Given the description of an element on the screen output the (x, y) to click on. 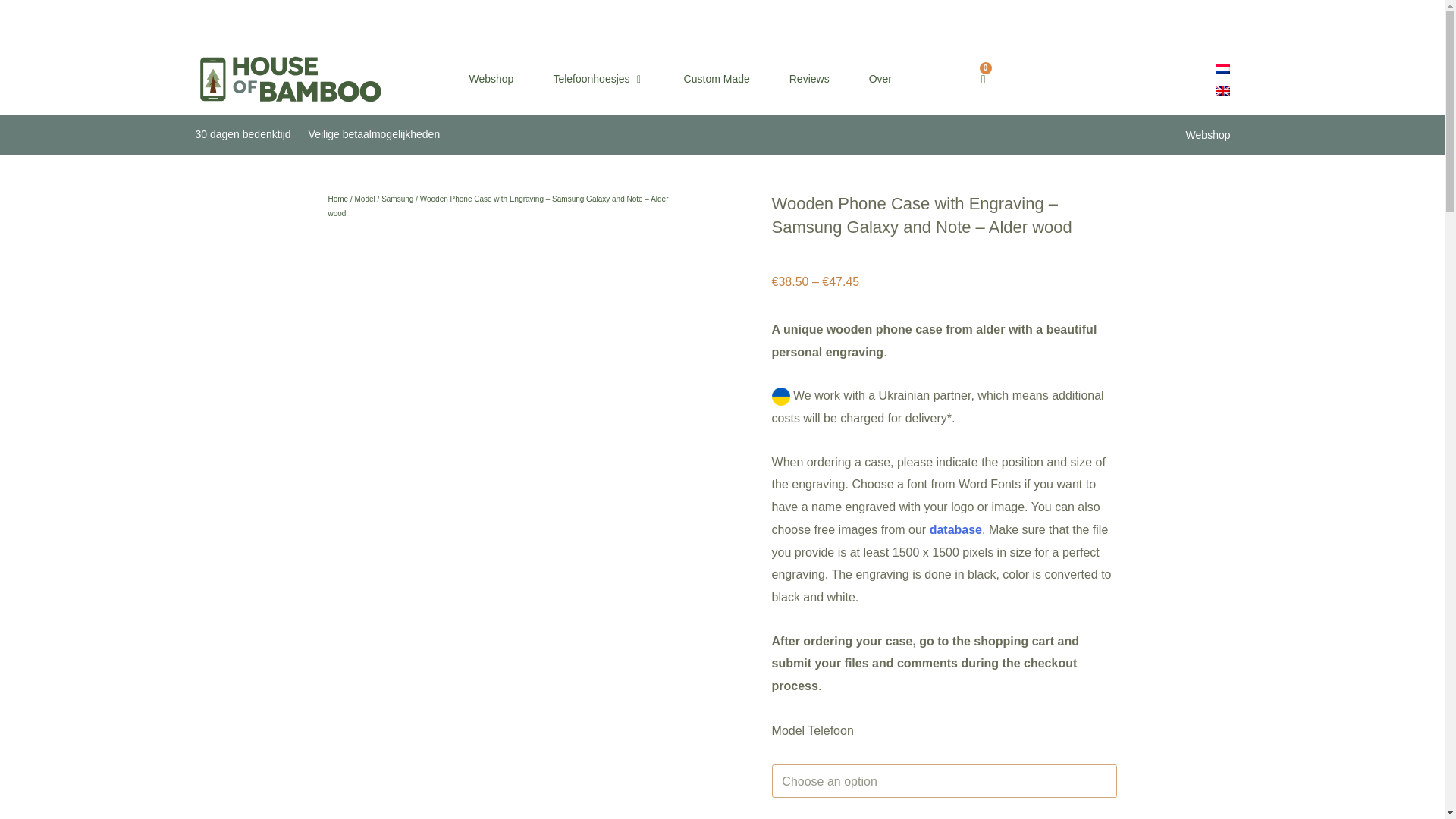
Webshop (490, 78)
Custom Made (716, 78)
Reviews (809, 78)
Over (880, 78)
